Given the description of an element on the screen output the (x, y) to click on. 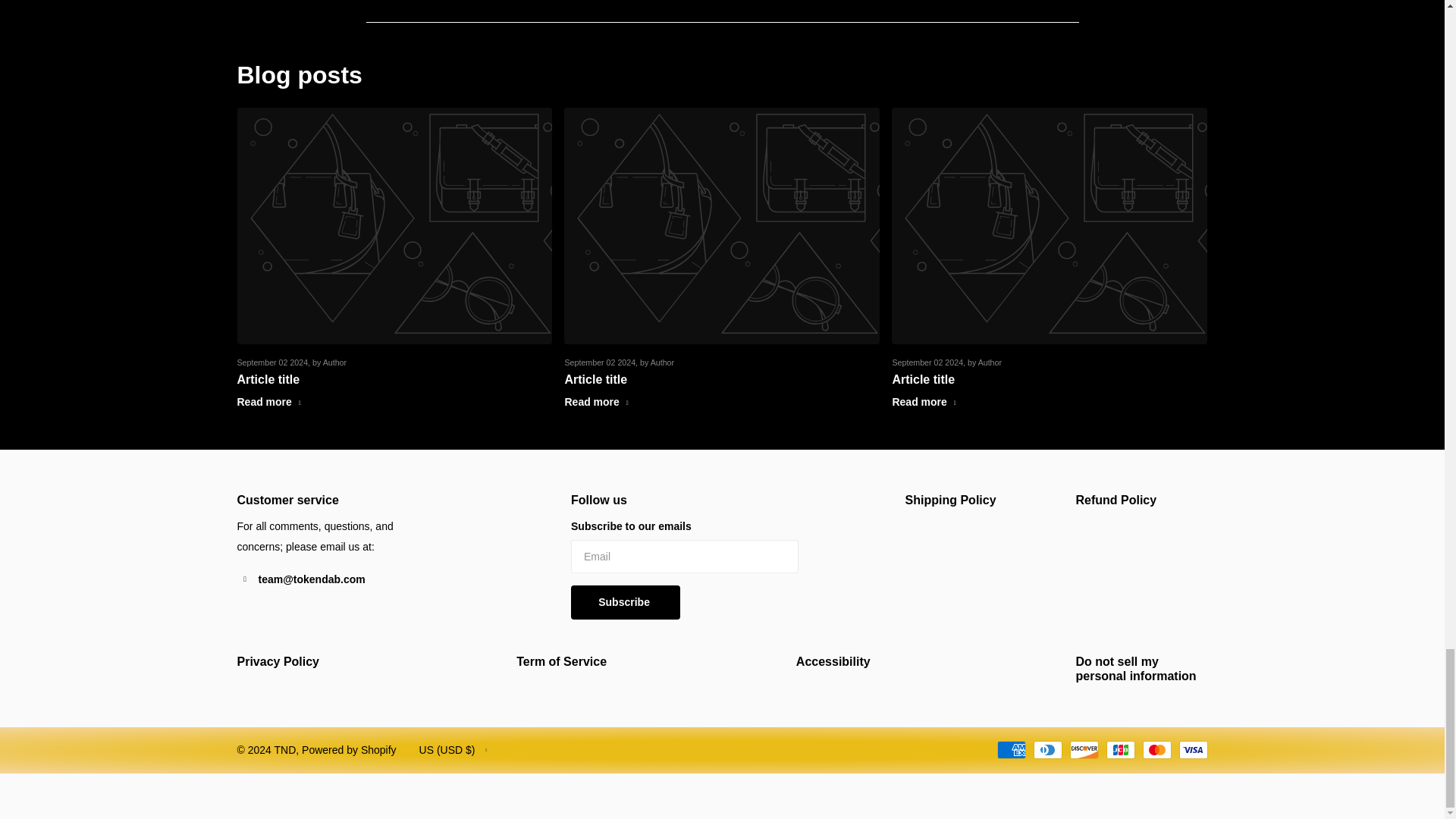
JCB (1119, 750)
Discover (1082, 750)
Mastercard (1155, 750)
American Express (1010, 750)
Visa (1192, 750)
Diners Club (1046, 750)
